Given the description of an element on the screen output the (x, y) to click on. 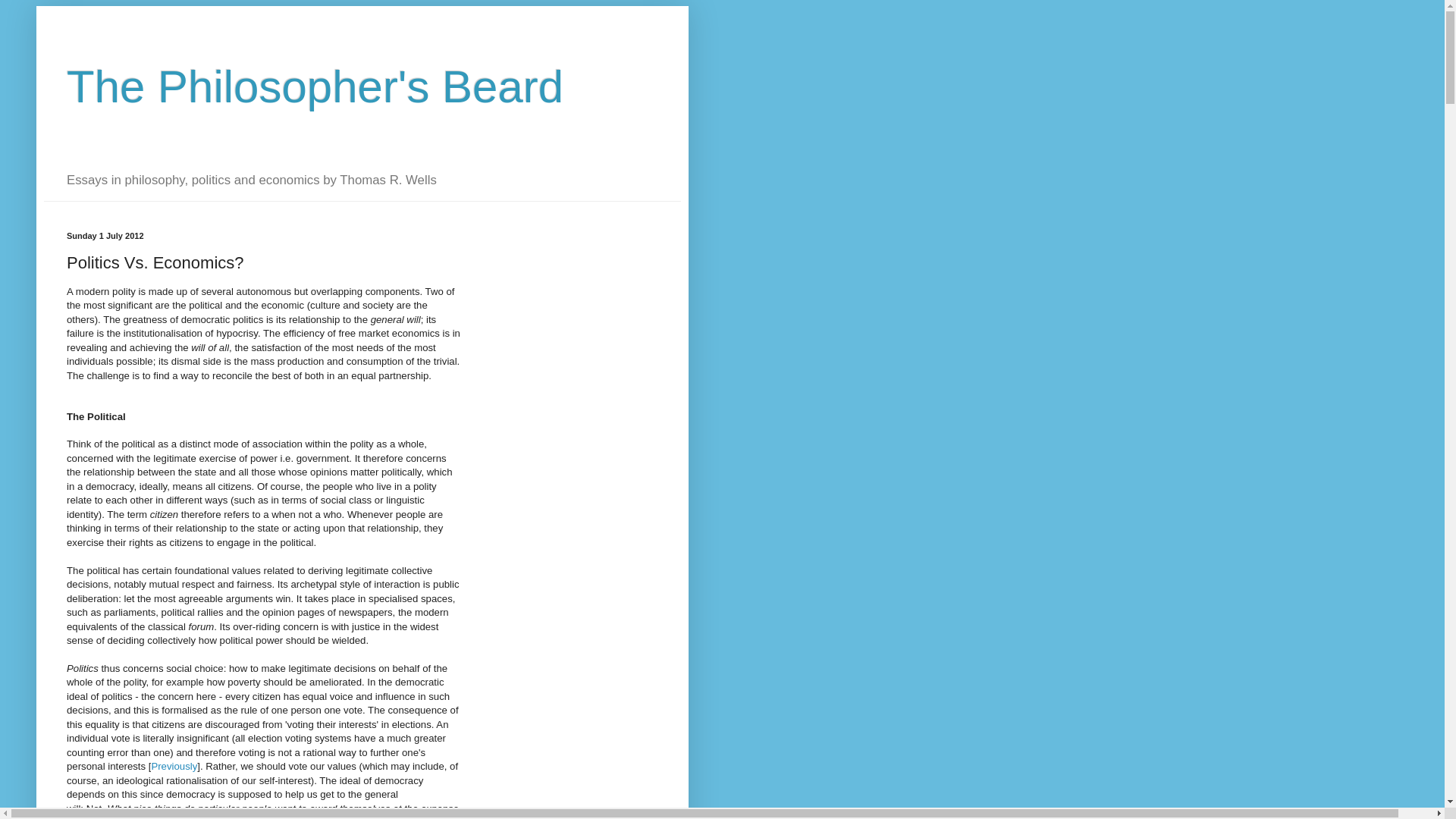
The Philosopher's Beard (314, 86)
Previously (173, 766)
